Given the description of an element on the screen output the (x, y) to click on. 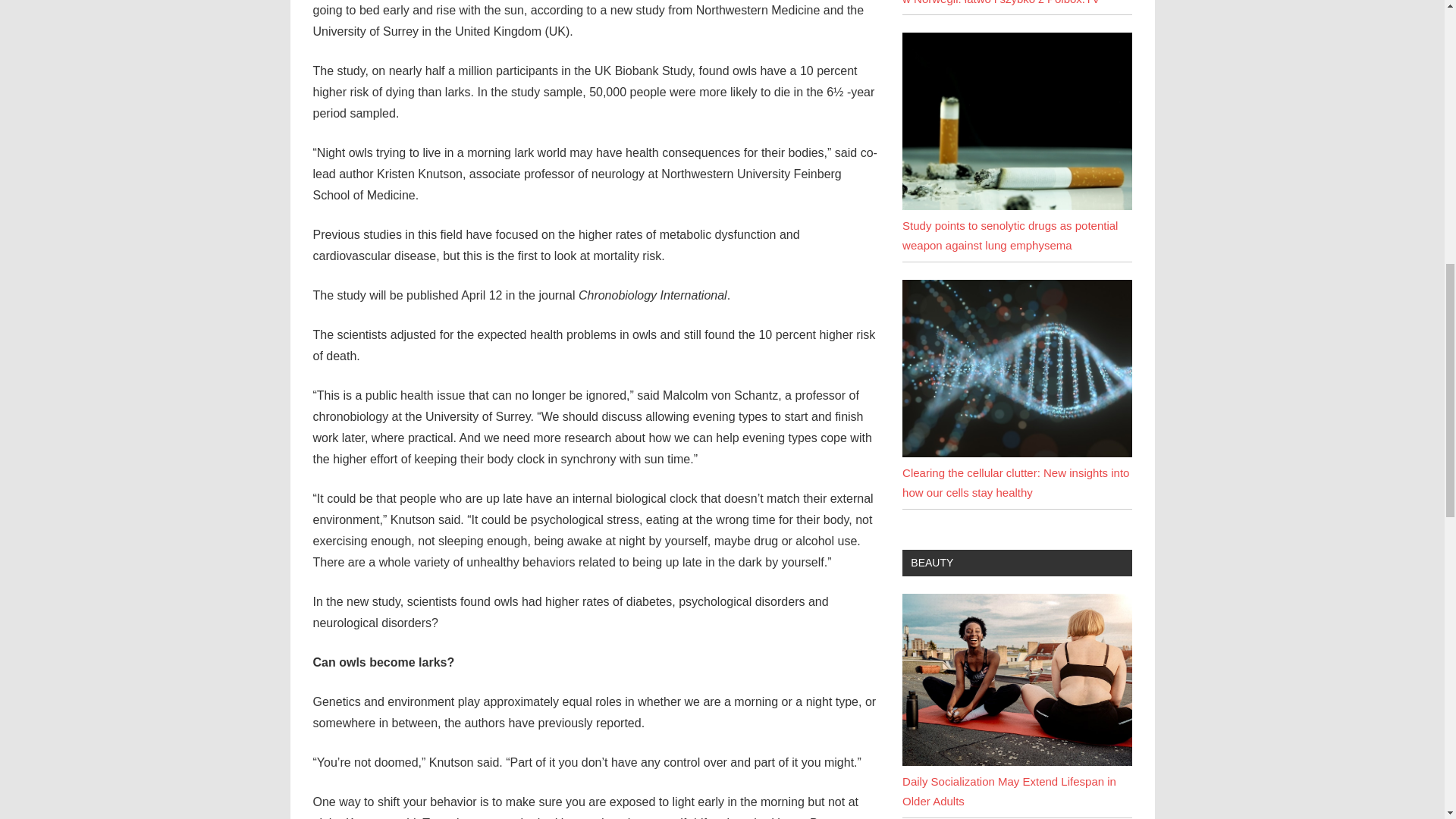
Daily Socialization May Extend Lifespan in Older Adults (1016, 761)
Daily Socialization May Extend Lifespan in Older Adults (1009, 790)
Daily Socialization May Extend Lifespan in Older Adults (1016, 679)
